Given the description of an element on the screen output the (x, y) to click on. 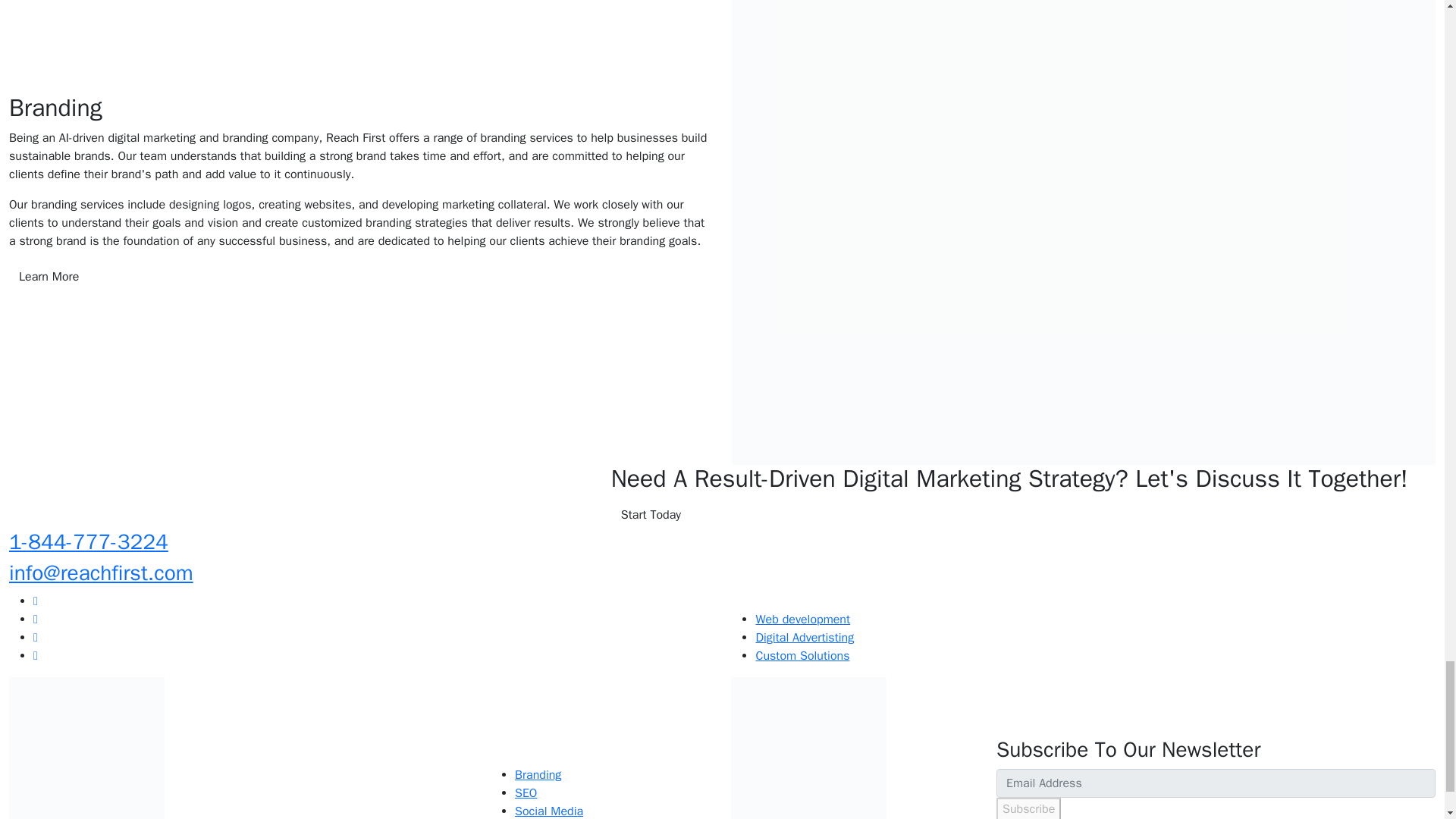
Learn More (48, 276)
1-844-777-3224 (88, 541)
Branding (537, 774)
Start Today (650, 514)
